Given the description of an element on the screen output the (x, y) to click on. 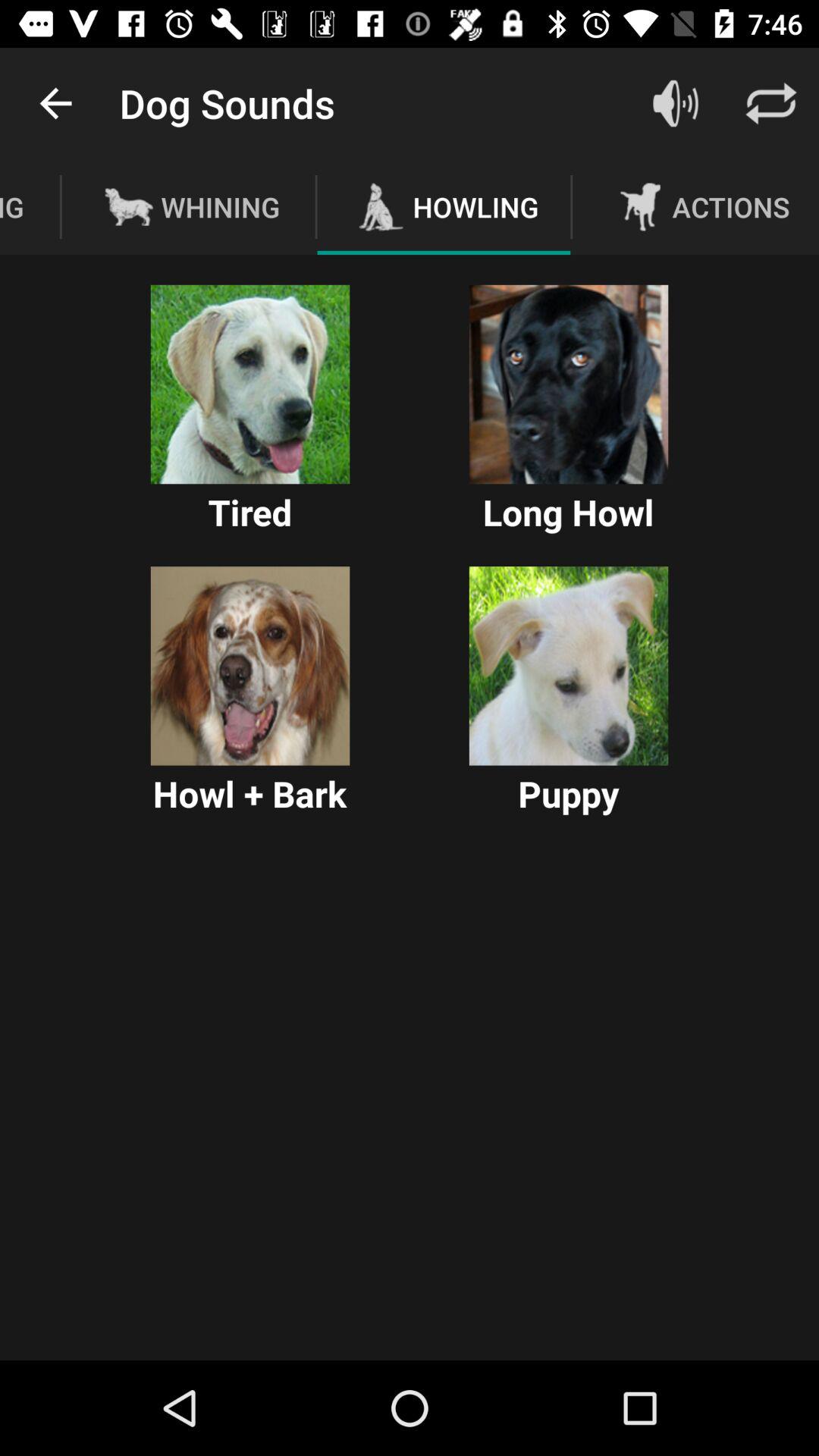
choose picture (249, 384)
